Given the description of an element on the screen output the (x, y) to click on. 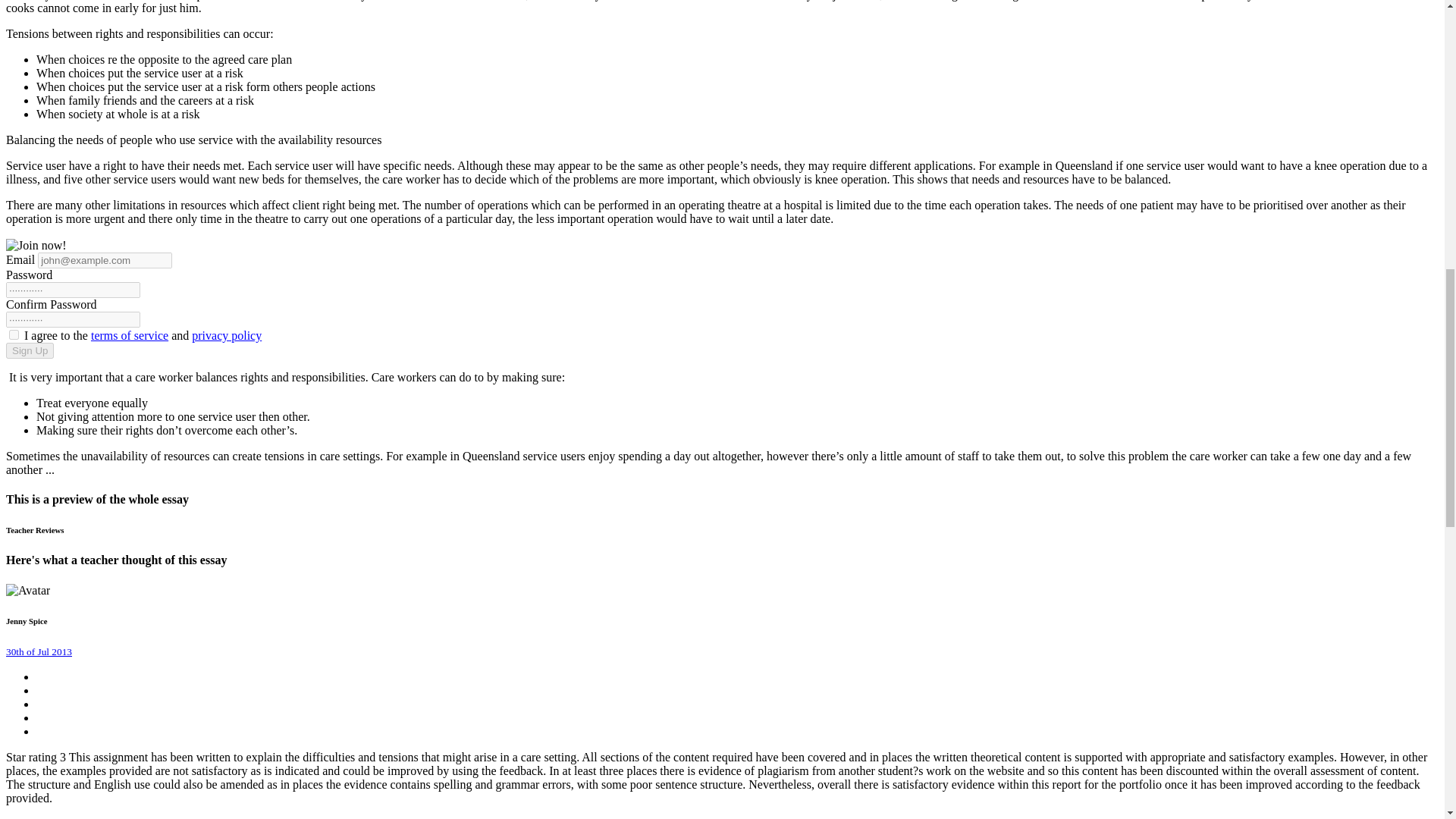
Sign Up (29, 350)
on (13, 334)
30th of Jul 2013 (38, 650)
privacy policy (227, 335)
terms of service (129, 335)
